Given the description of an element on the screen output the (x, y) to click on. 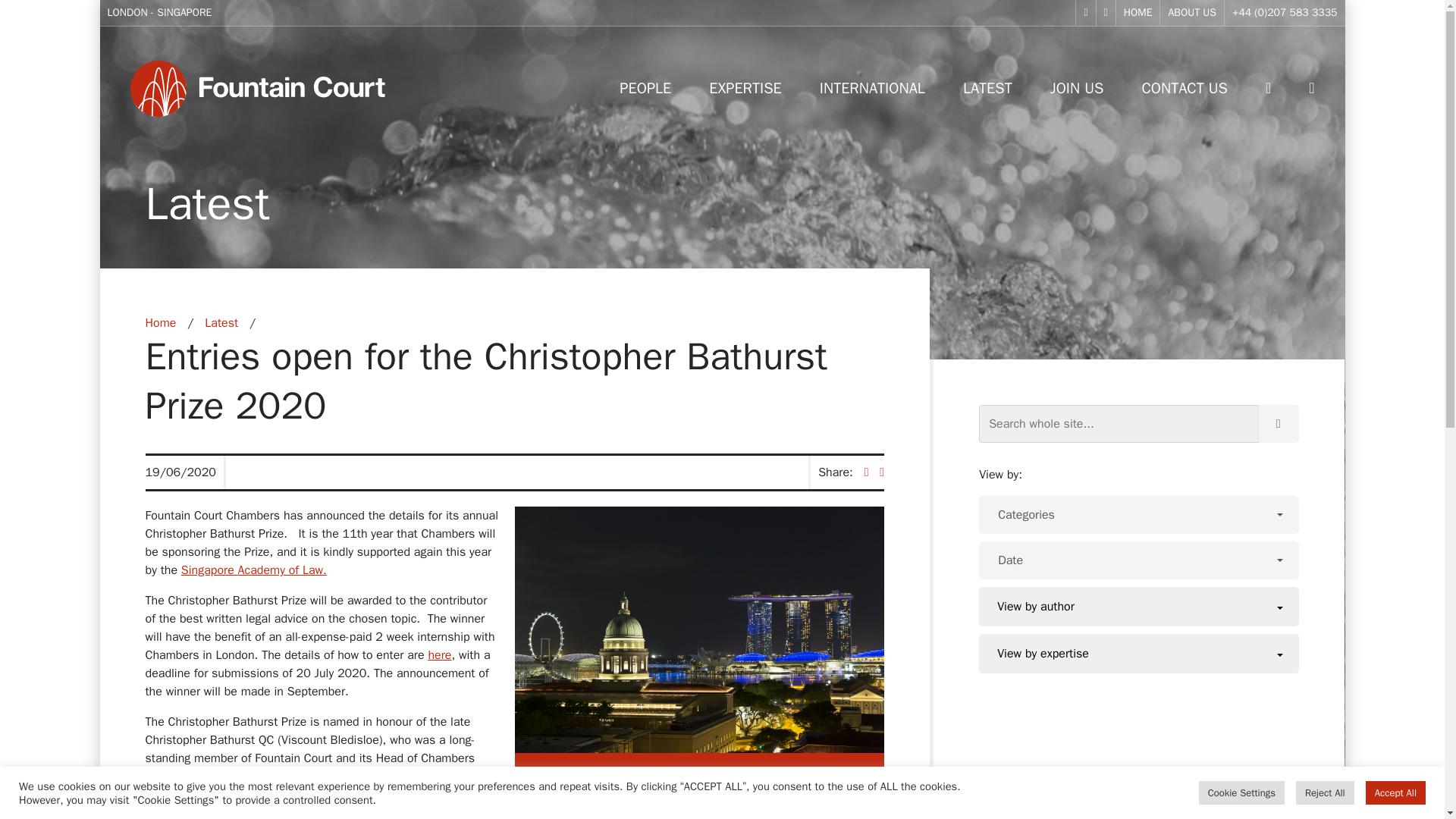
JOIN US (1076, 88)
View by author (1139, 606)
PEOPLE (644, 88)
View by expertise (1139, 653)
INTERNATIONAL (871, 88)
ABOUT US (1192, 12)
HOME (1138, 12)
LATEST (986, 88)
CONTACT US (1184, 88)
EXPERTISE (745, 88)
